Given the description of an element on the screen output the (x, y) to click on. 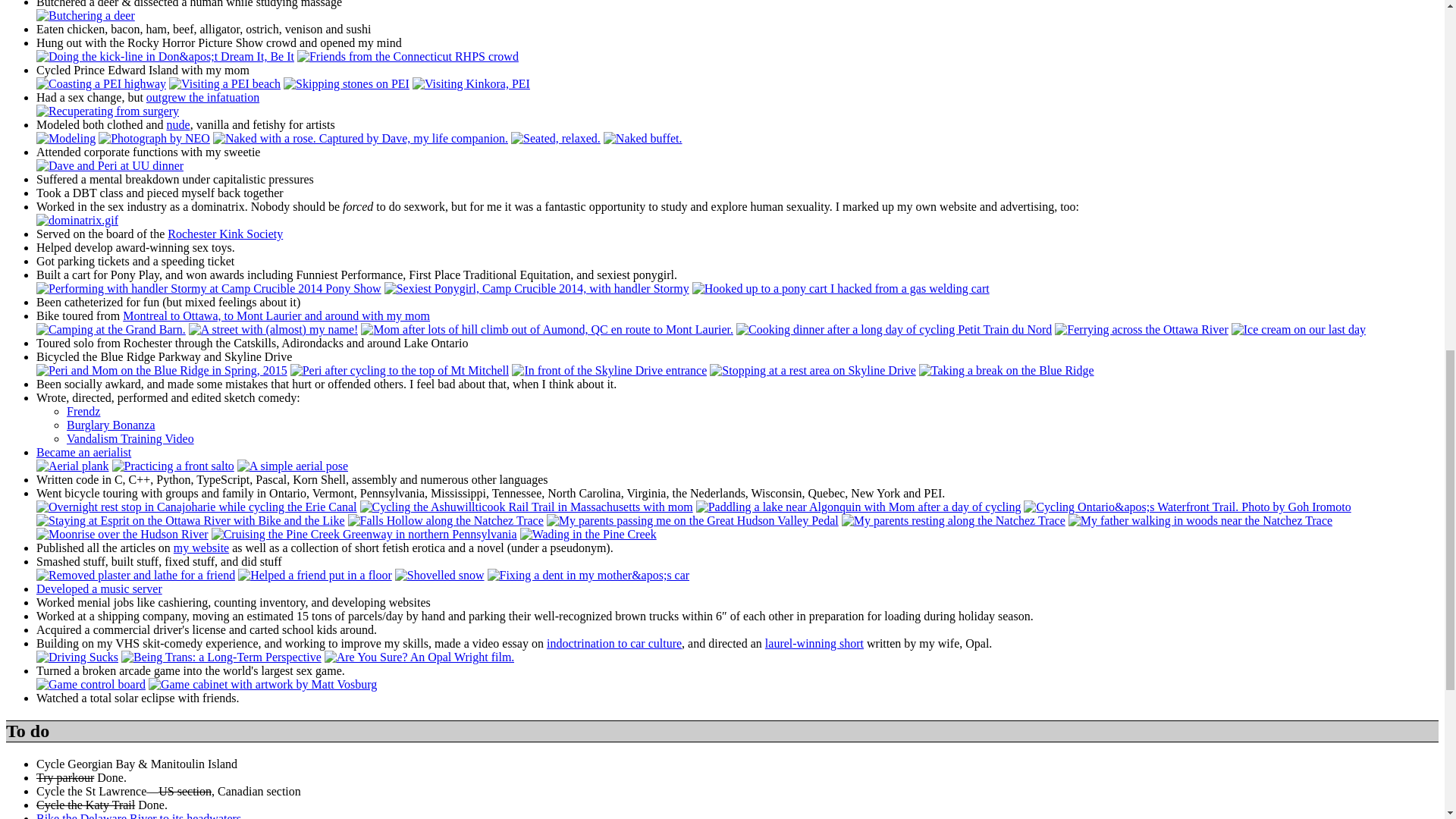
outgrew the infatuation (203, 97)
nude (178, 124)
